Given the description of an element on the screen output the (x, y) to click on. 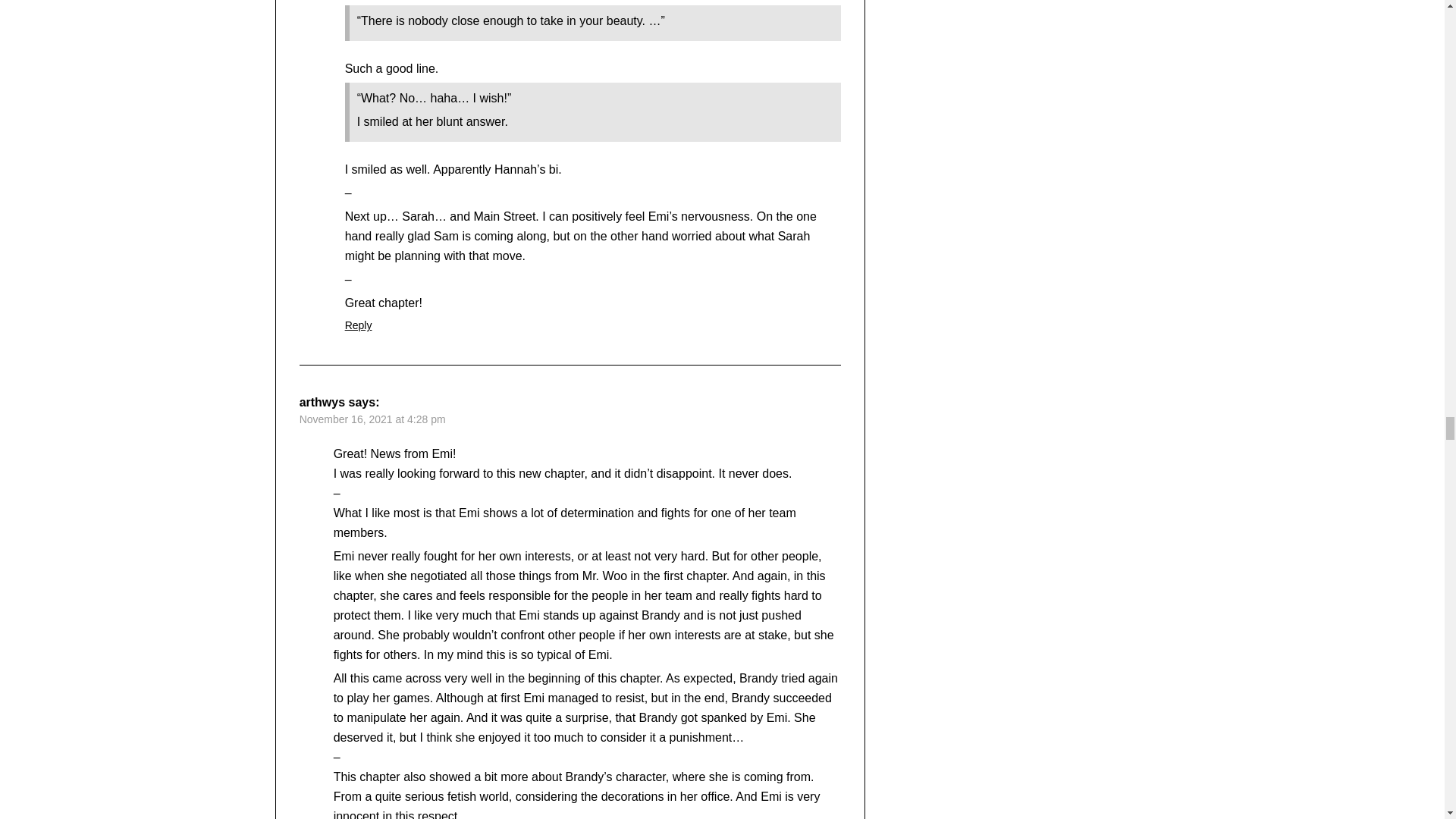
Reply (358, 325)
November 16, 2021 at 4:28 pm (372, 419)
